Given the description of an element on the screen output the (x, y) to click on. 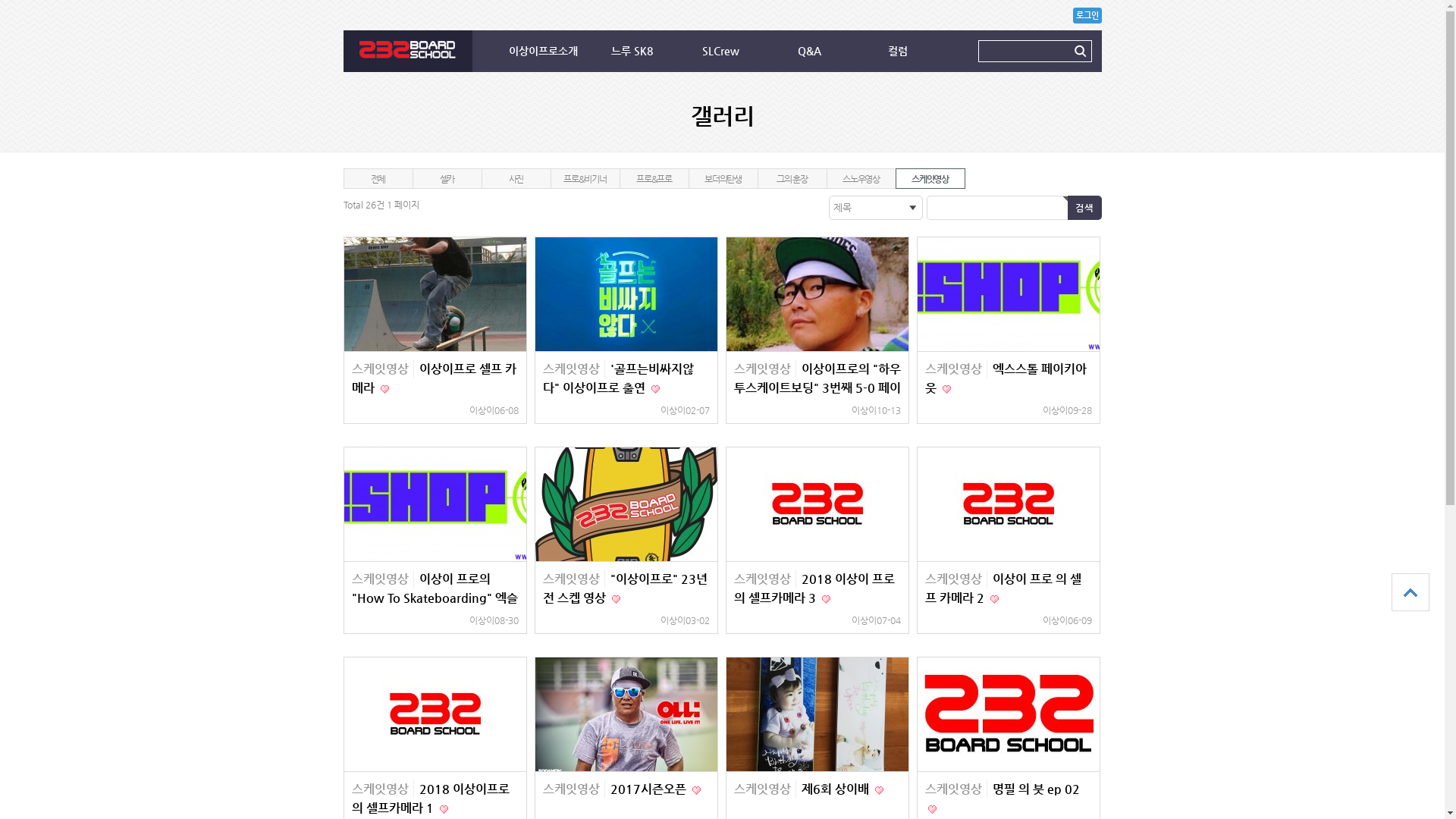
SLCrew Element type: text (723, 51)
Q&A Element type: text (812, 51)
